Given the description of an element on the screen output the (x, y) to click on. 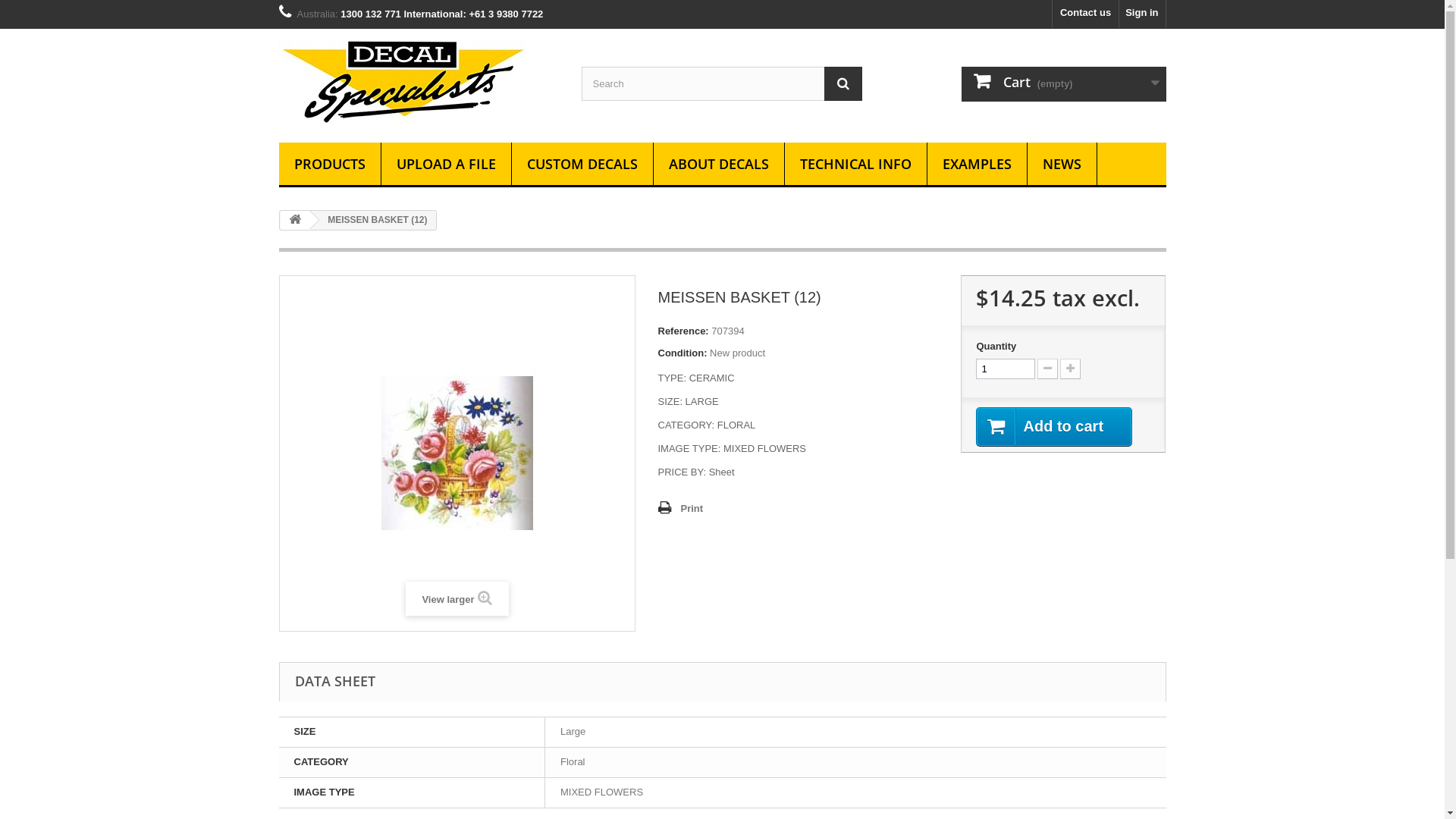
TECHNICAL INFO Element type: text (854, 164)
EXAMPLES Element type: text (976, 164)
ABOUT DECALS Element type: text (718, 164)
Contact us Element type: text (1085, 14)
Return to Home Element type: hover (294, 219)
CUSTOM DECALS Element type: text (581, 164)
Add to cart Element type: text (1053, 426)
PRODUCTS Element type: text (329, 164)
Cart (empty) Element type: text (1063, 83)
MEISSEN BASKET (12) Element type: hover (456, 453)
UPLOAD A FILE Element type: text (445, 164)
NEWS Element type: text (1060, 164)
Sign in Element type: text (1141, 14)
DECAL SPECIALISTS Element type: hover (419, 81)
Print Element type: text (680, 508)
